Given the description of an element on the screen output the (x, y) to click on. 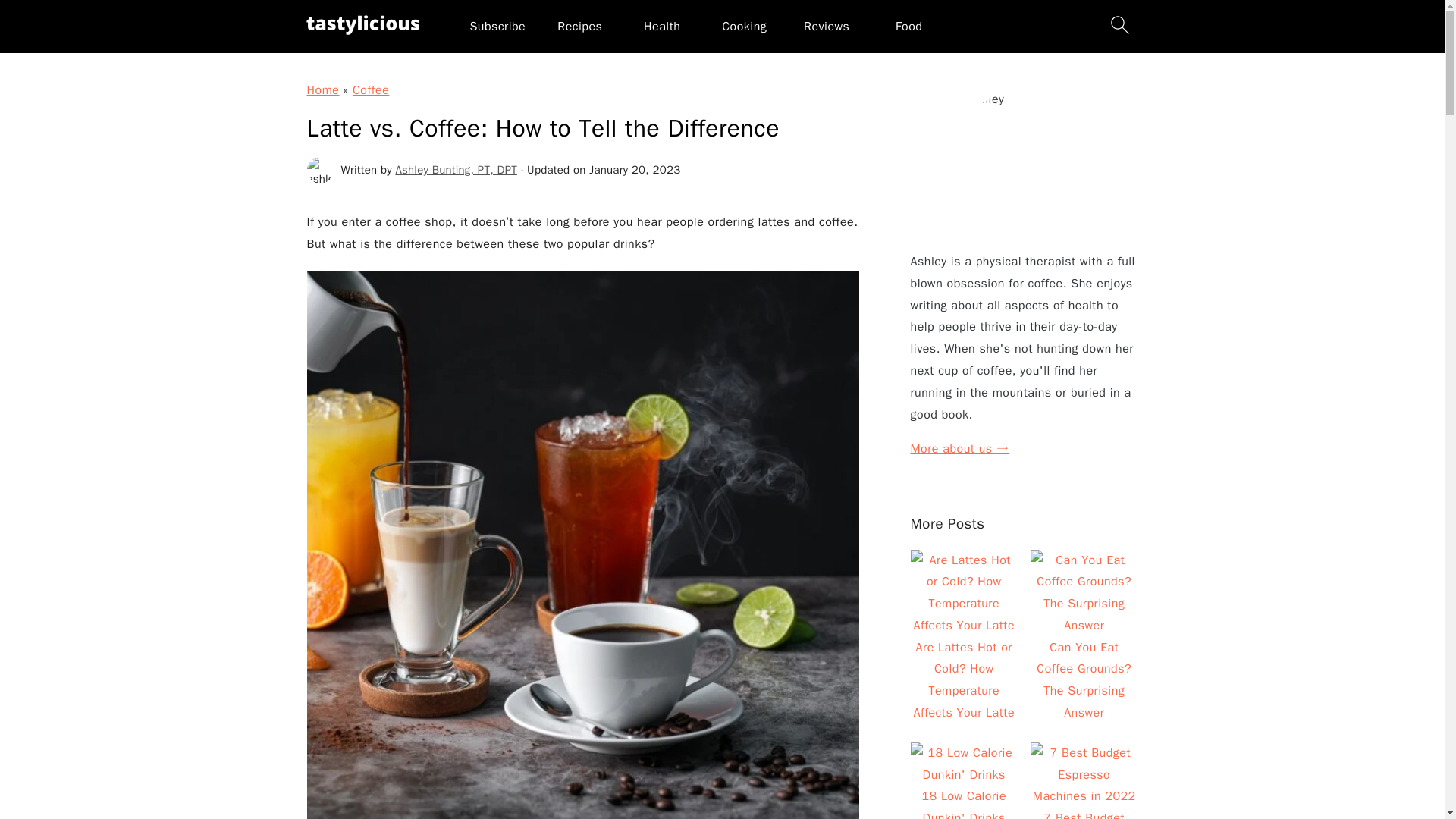
Reviews (825, 26)
Health (661, 26)
Home (322, 89)
Cooking (744, 26)
search icon (1119, 24)
Coffee (370, 89)
Ashley Bunting, PT, DPT (456, 169)
Recipes (579, 26)
Food (909, 26)
Subscribe (496, 26)
